Given the description of an element on the screen output the (x, y) to click on. 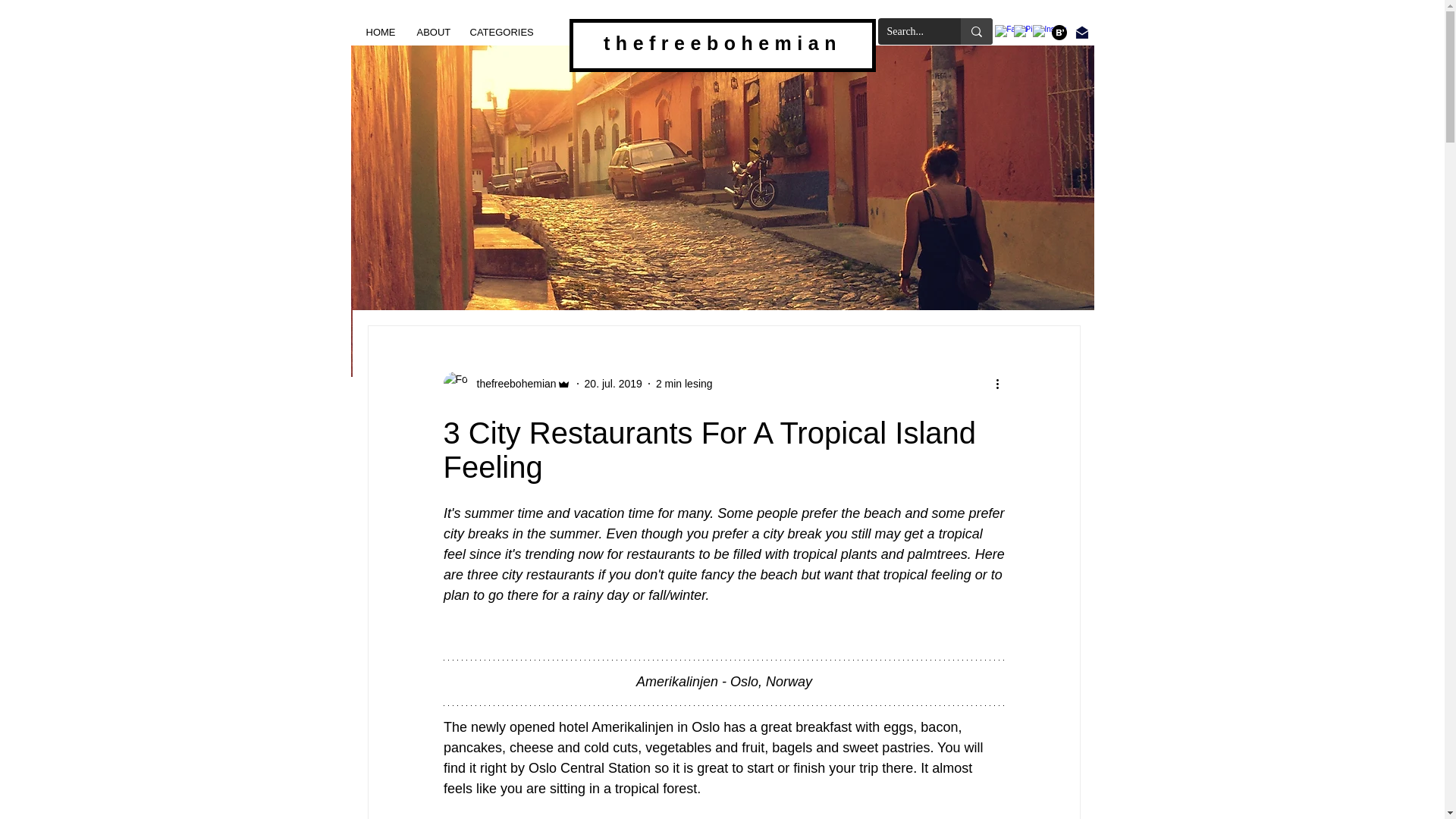
thefreebohemian (511, 383)
HOME (380, 31)
20. jul. 2019 (613, 383)
ABOUT (433, 31)
circle-128.png (1058, 32)
CATEGORIES (498, 31)
2 min lesing (684, 383)
